Given the description of an element on the screen output the (x, y) to click on. 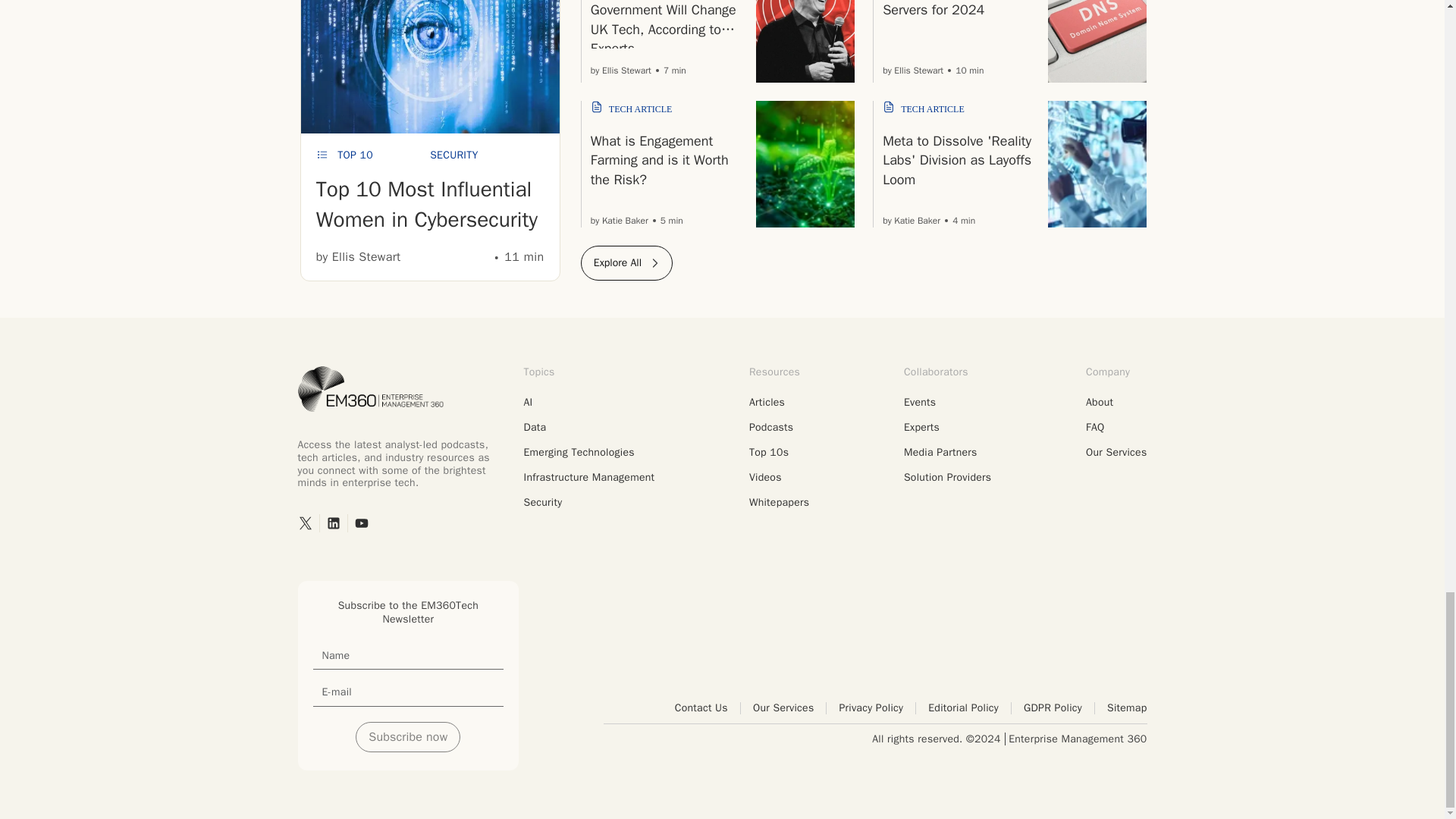
Privacy Policy (876, 707)
Subscribe now (407, 736)
Sitemap (1126, 707)
GDPR Policy (1058, 707)
